Given the description of an element on the screen output the (x, y) to click on. 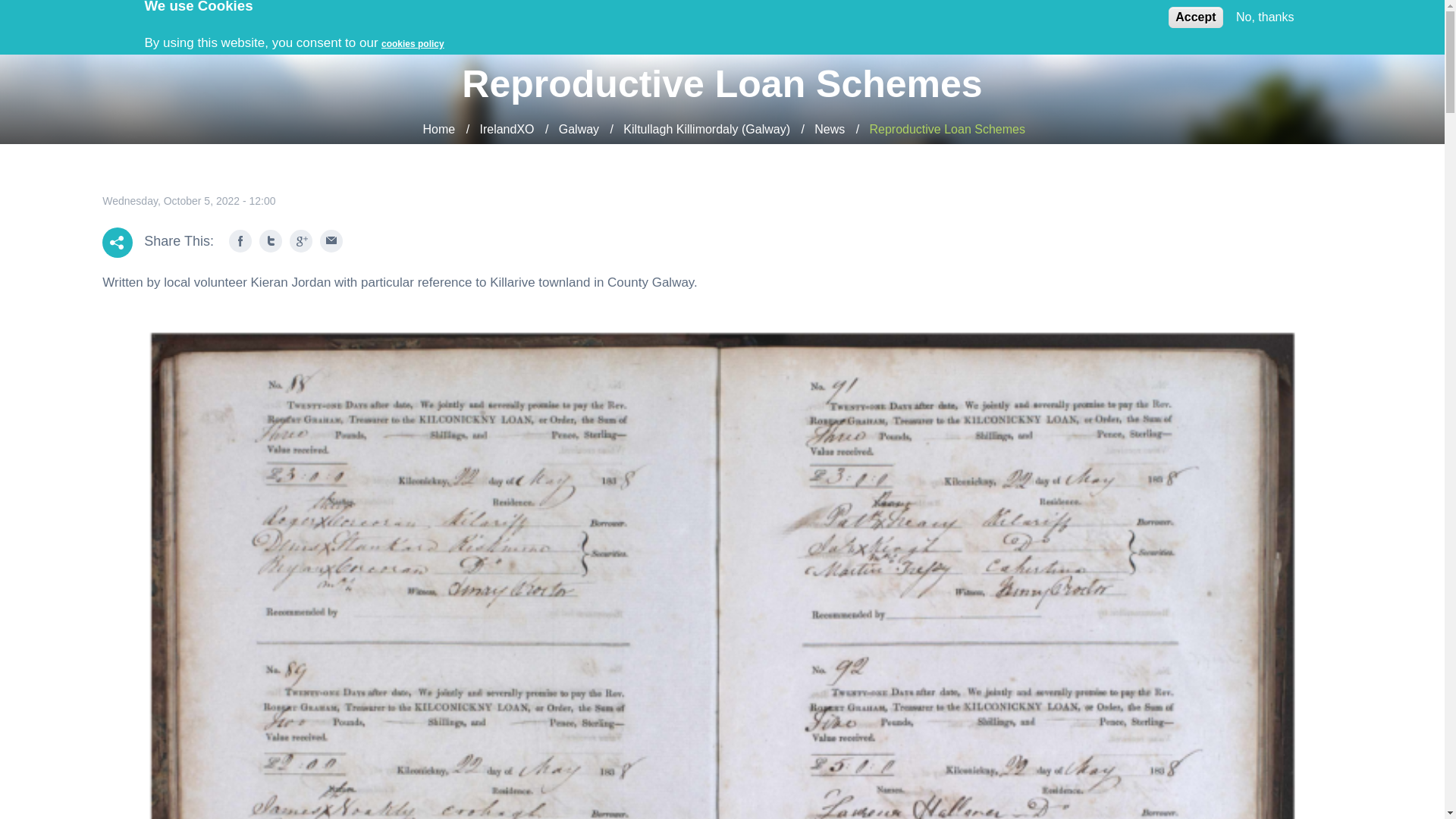
Get Involved (1022, 22)
No, thanks (1265, 17)
Login (1098, 22)
Accept (1196, 16)
Get Started - It's FREE (1218, 22)
Success Stories (809, 22)
Message Board (919, 22)
Donate (1355, 22)
cookies policy (412, 43)
